Given the description of an element on the screen output the (x, y) to click on. 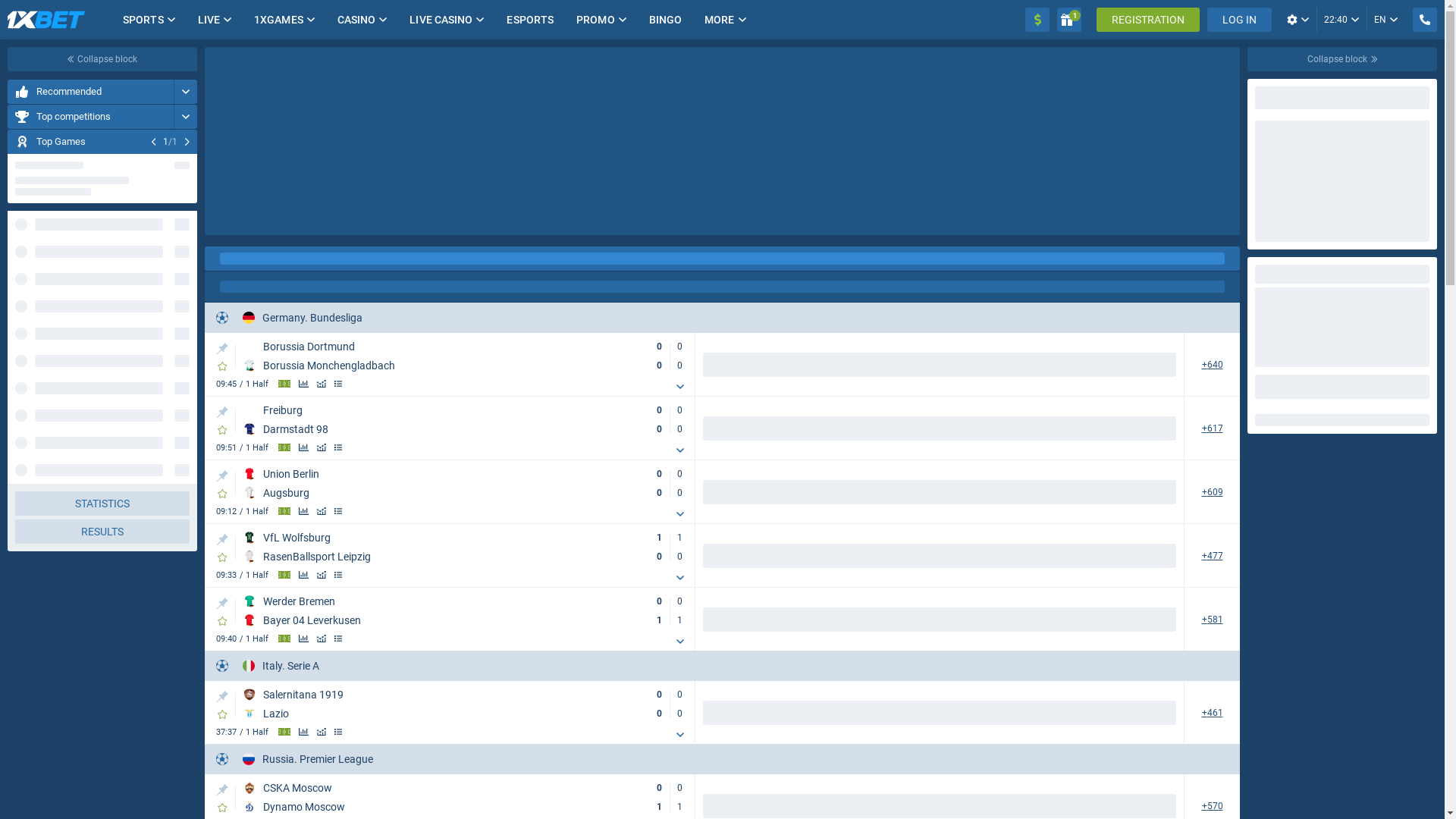
MORE Element type: text (719, 19)
VfL Wolfsburg
RasenBallsport Leipzig
1
0
1
0 Element type: text (466, 547)
SPORTS Element type: text (142, 19)
Freiburg
Darmstadt 98
0
0
0
0 Element type: text (466, 419)
Salernitana 1919
Lazio
0
0
0
0 Element type: text (466, 704)
CASINO Element type: text (356, 19)
LOG IN Element type: text (1239, 19)
Union Berlin
Augsburg
0
0
0
0 Element type: text (466, 483)
581 Element type: text (1211, 618)
609 Element type: text (1211, 491)
477 Element type: text (1211, 555)
EN Element type: text (1385, 19)
Russia. Premier League Element type: text (307, 758)
LIVE Element type: text (208, 19)
617 Element type: text (1211, 427)
Italy. Serie A Element type: text (280, 665)
Germany. Bundesliga Element type: text (302, 316)
461 Element type: text (1211, 711)
PROMO Element type: text (595, 19)
ESPORTS Element type: text (529, 19)
RESULTS Element type: text (102, 531)
BINGO Element type: text (665, 19)
22:40 Element type: text (1341, 19)
STATISTICS Element type: text (102, 503)
Collapse block Element type: text (102, 59)
CSKA Moscow
Dynamo Moscow
0
1
0
1 Element type: text (466, 797)
Collapse block Element type: text (1342, 59)
LIVE CASINO Element type: text (440, 19)
Werder Bremen
Bayer 04 Leverkusen
0
1
0
1 Element type: text (466, 610)
1XGAMES Element type: text (278, 19)
640 Element type: text (1211, 363)
Borussia Dortmund
Borussia Monchengladbach
0
0
0
0 Element type: text (466, 356)
REGISTRATION Element type: text (1147, 19)
1 Element type: text (1069, 19)
